Given the description of an element on the screen output the (x, y) to click on. 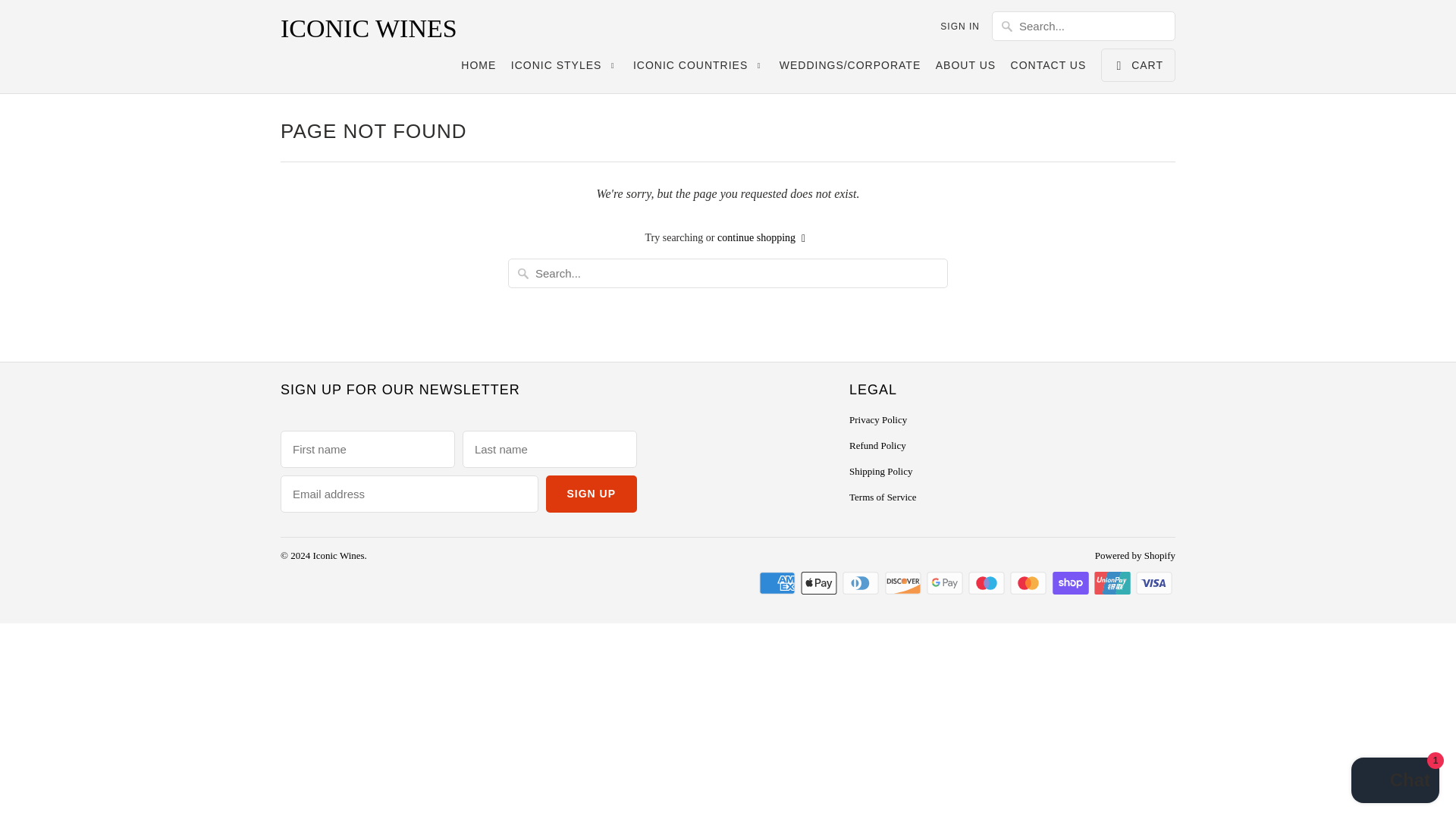
Cart (1137, 64)
American Express (777, 582)
Diners Club (862, 582)
Visa (1154, 582)
Discover (903, 582)
Shopify online store chat (1395, 781)
SIGN IN (959, 26)
Maestro (987, 582)
Shop Pay (1072, 582)
CART (1137, 64)
Mastercard (1029, 582)
ICONIC WINES (387, 28)
ABOUT US (965, 68)
Sign Up (591, 493)
Iconic Wines (387, 28)
